Given the description of an element on the screen output the (x, y) to click on. 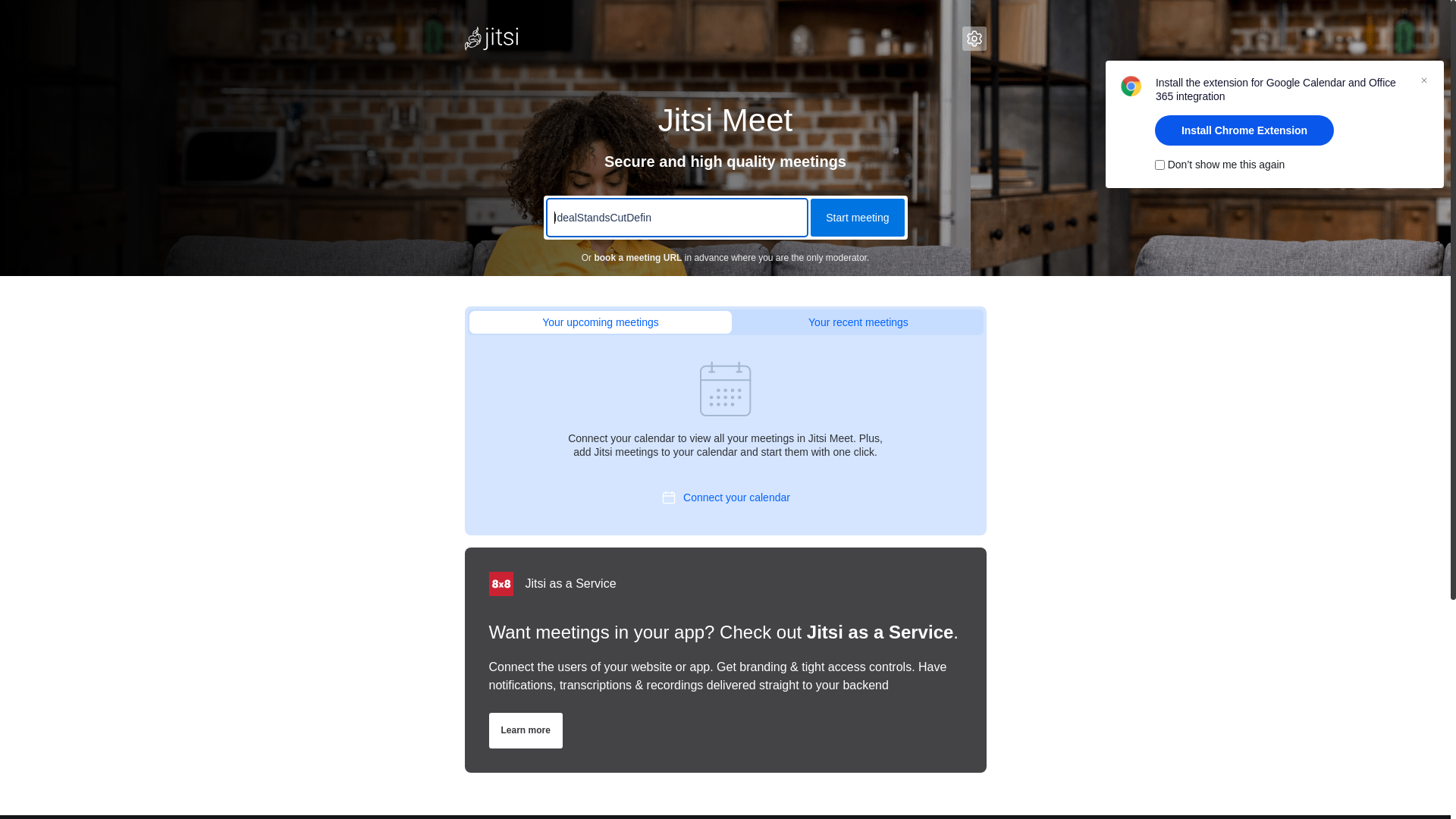
show more Element type: text (700, 430)
reload now Element type: text (754, 430)
